Given the description of an element on the screen output the (x, y) to click on. 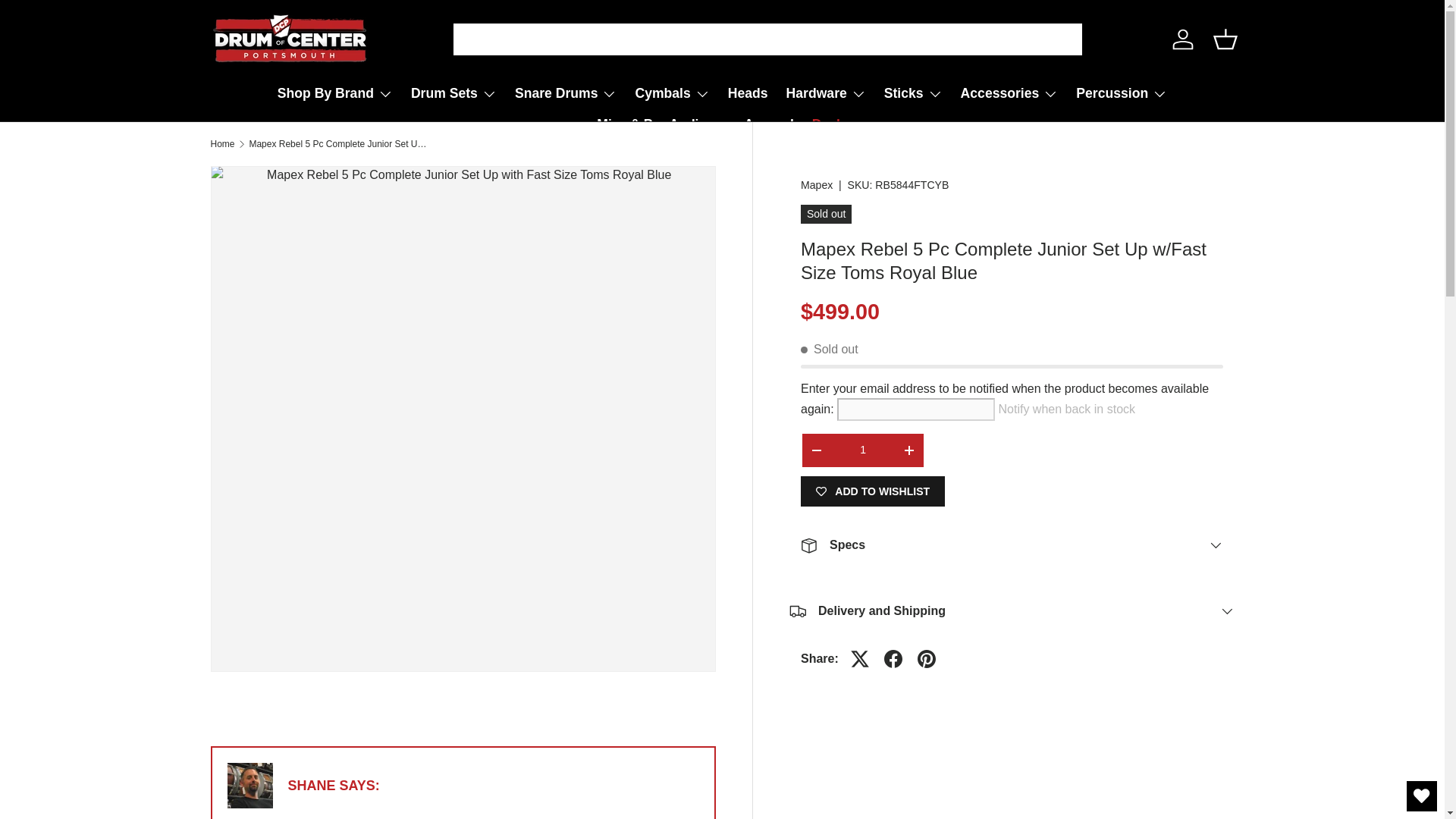
Pin on Pinterest (926, 658)
Shop By Brand (335, 92)
Tweet on X (859, 658)
Log in (1182, 39)
Search (469, 40)
1 (863, 450)
Share on Facebook (893, 658)
SKIP TO CONTENT (69, 21)
Basket (1224, 39)
